Given the description of an element on the screen output the (x, y) to click on. 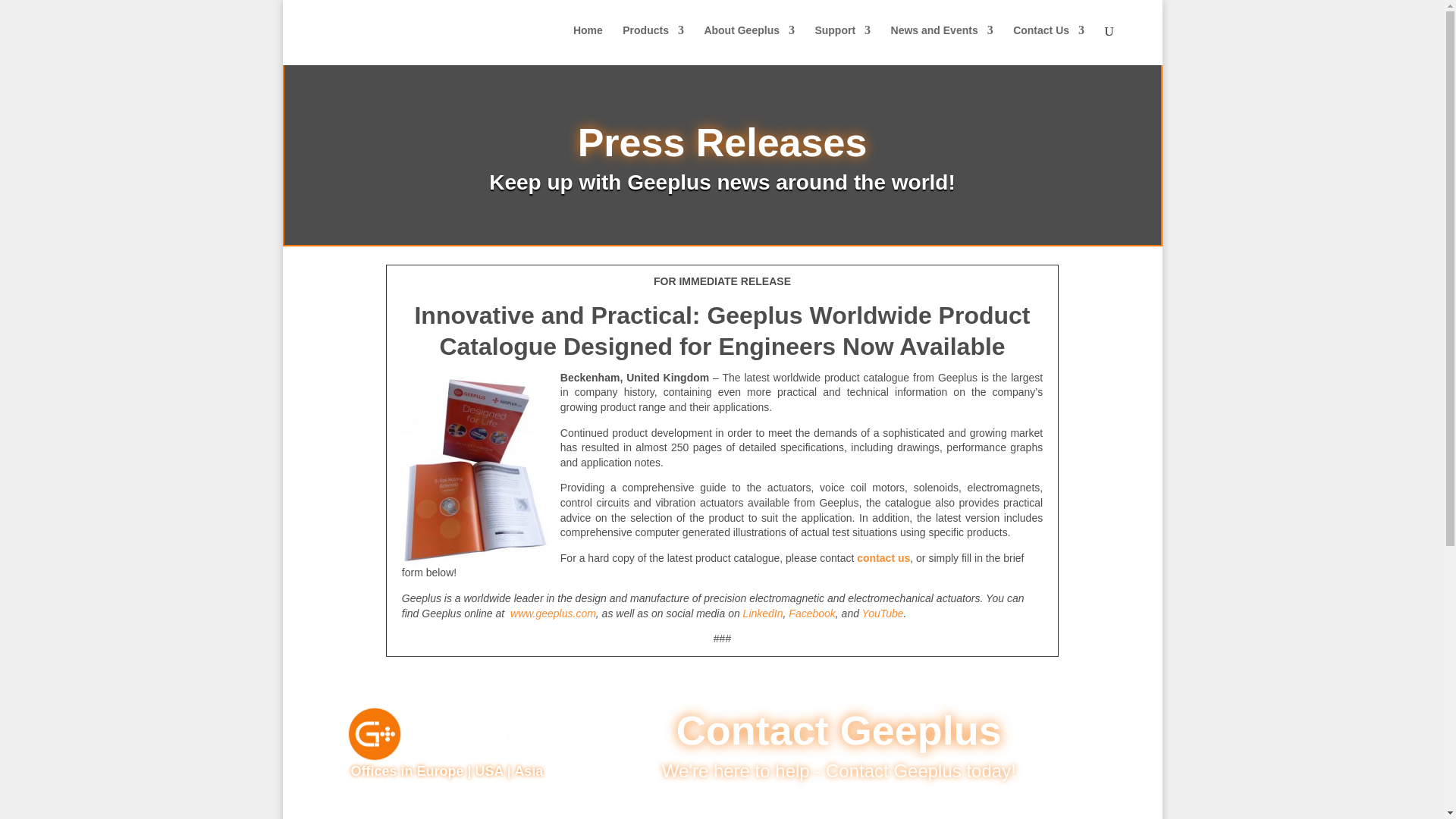
Support (841, 42)
About Geeplus (748, 42)
Products (653, 42)
Contact Geeplus (883, 558)
News and Events (941, 42)
